Given the description of an element on the screen output the (x, y) to click on. 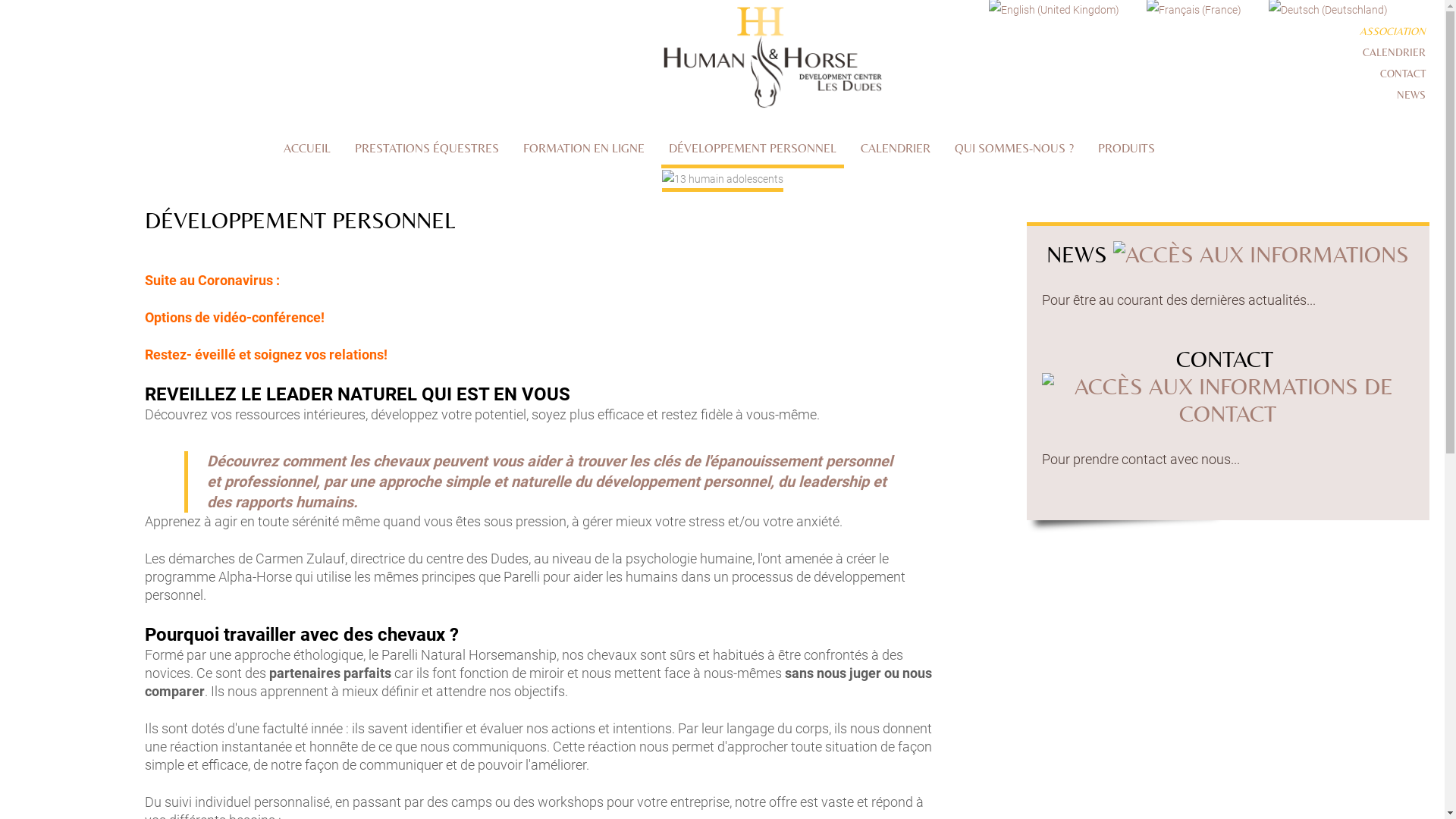
NEWS Element type: text (1411, 94)
CALENDRIER Element type: text (1393, 51)
Contact Element type: hover (1228, 413)
CALENDRIER Element type: text (895, 150)
CONTACT Element type: text (1402, 73)
PRODUITS Element type: text (1126, 150)
FORMATION EN LIGNE Element type: text (583, 150)
News Element type: hover (1260, 254)
ASSOCIATION Element type: text (1392, 30)
QUI SOMMES-NOUS ? Element type: text (1014, 150)
ACCUEIL Element type: text (307, 150)
